Given the description of an element on the screen output the (x, y) to click on. 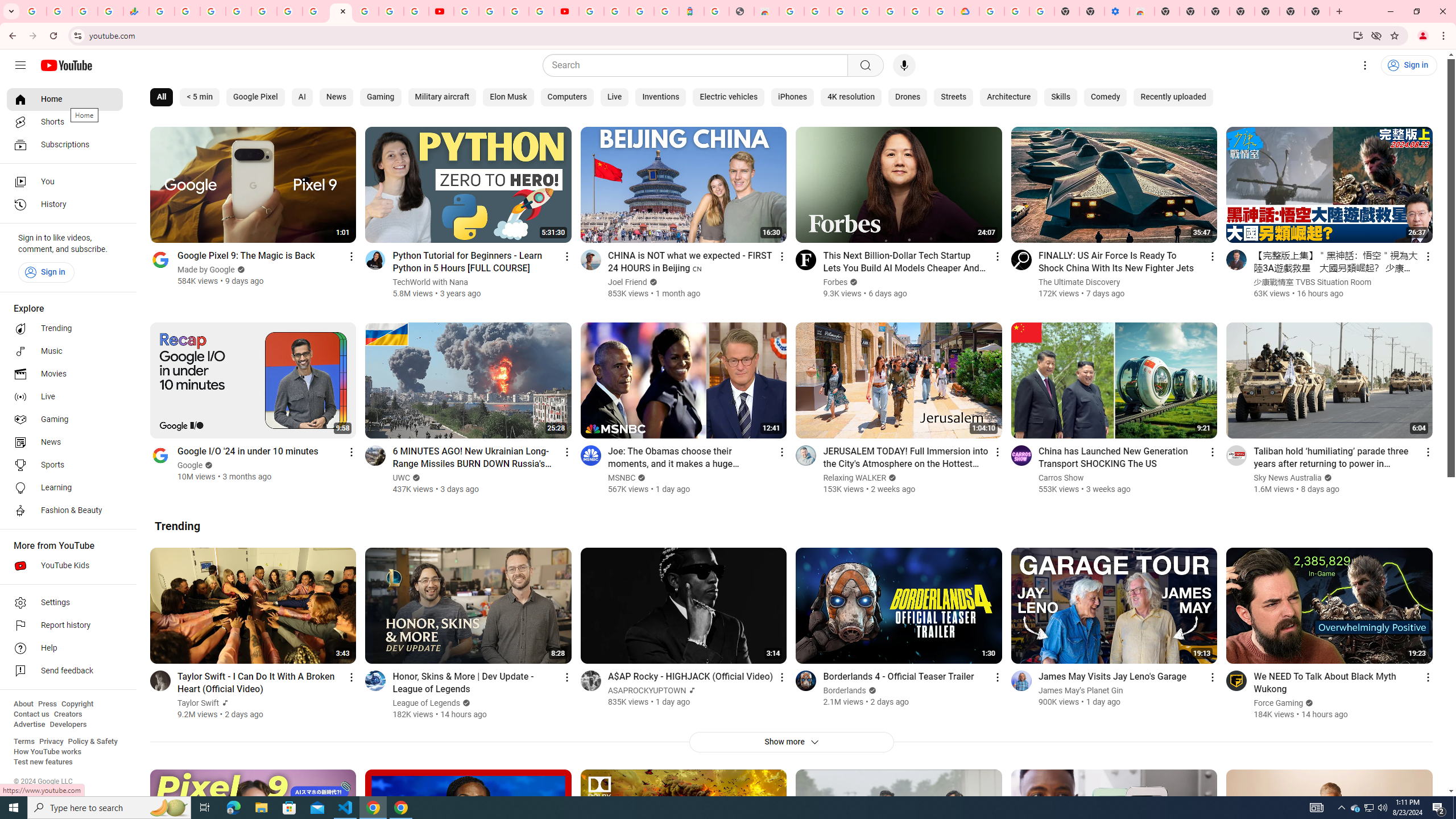
Military aircraft (441, 97)
Recently uploaded (1173, 97)
Atour Hotel - Google hotels (691, 11)
History (64, 204)
Show more (790, 741)
Chrome Web Store - Household (766, 11)
Contact us (31, 714)
